Given the description of an element on the screen output the (x, y) to click on. 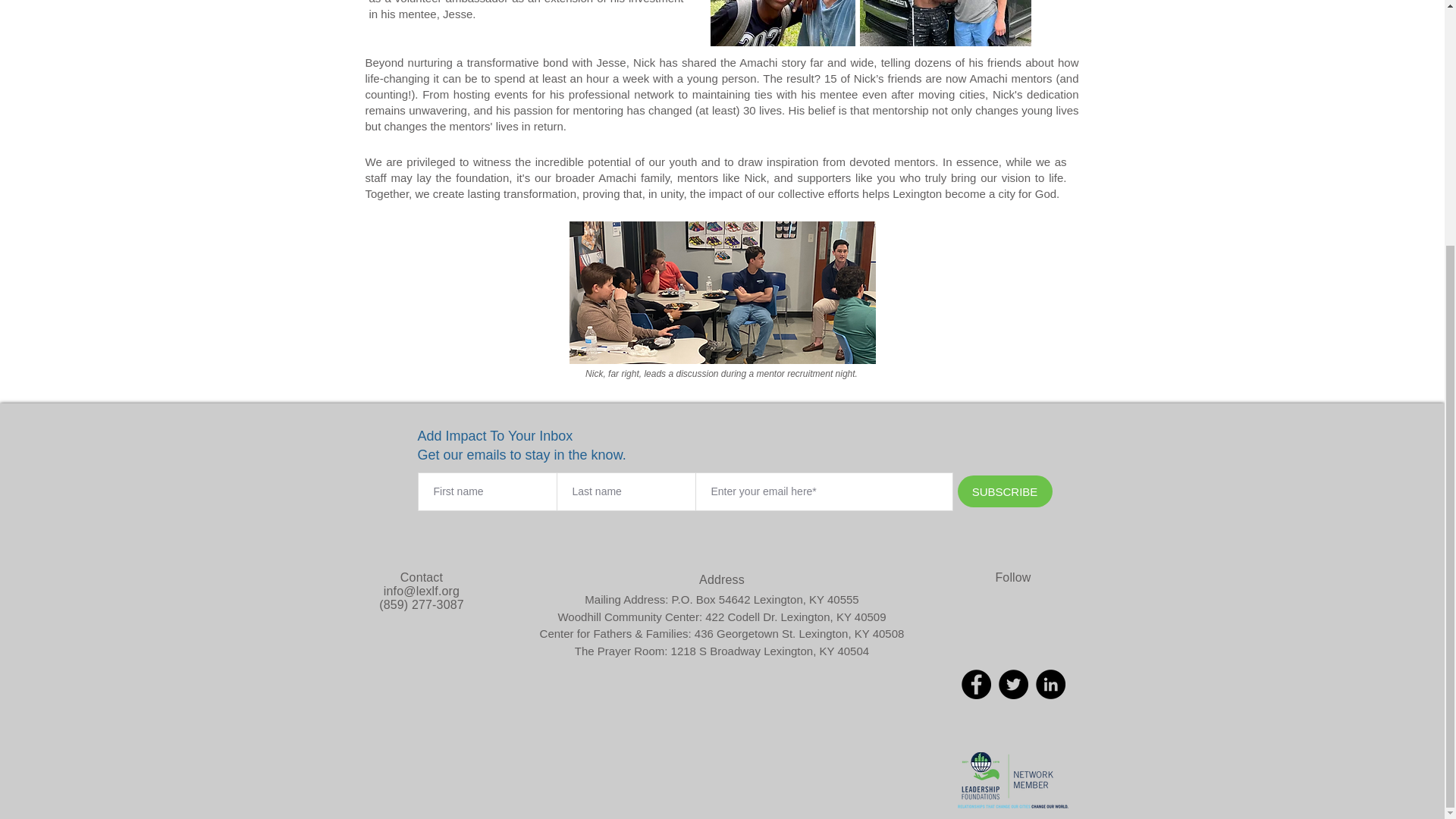
SUBSCRIBE (1003, 490)
119AFBC1-1F4C-4CA3-AD79-55C8745FC803.HEI (722, 292)
